Given the description of an element on the screen output the (x, y) to click on. 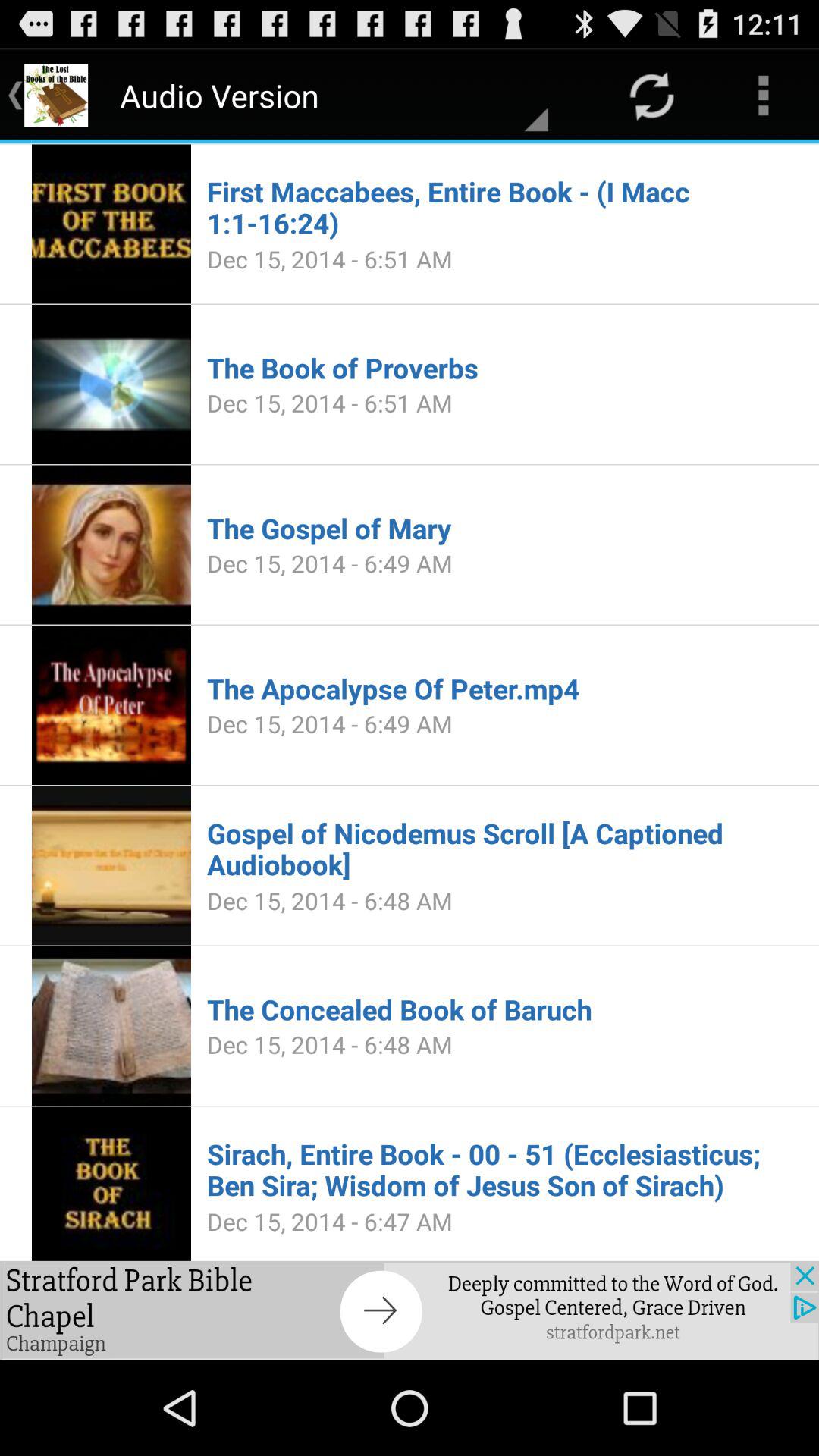
this is add banner in app (409, 1310)
